Given the description of an element on the screen output the (x, y) to click on. 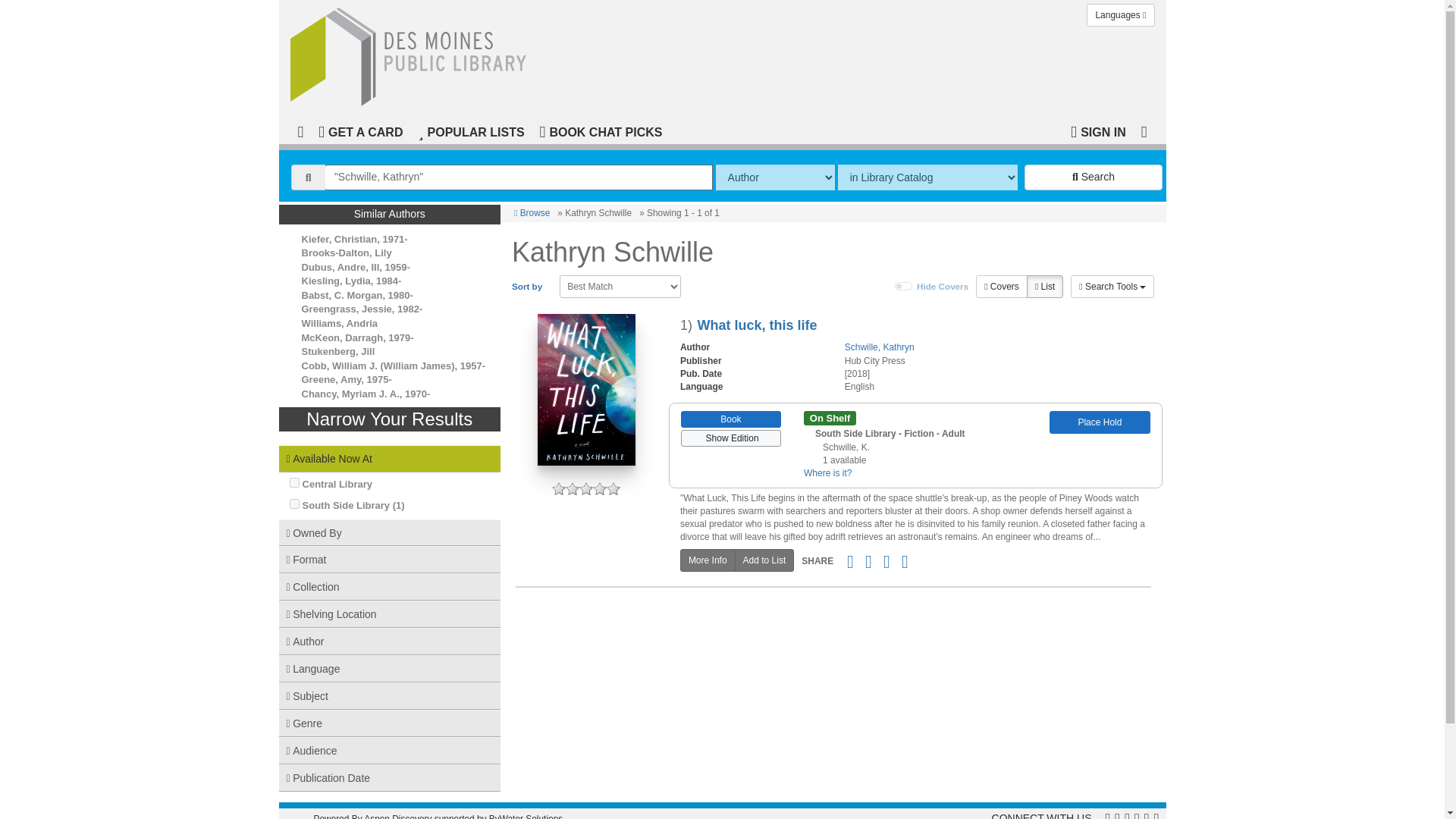
 Search (1093, 177)
on (294, 482)
Kiefer, Christian, 1971- (354, 238)
GET A CARD (360, 130)
Chancy, Myriam J. A., 1970- (365, 393)
Greengrass, Jessie, 1982- (362, 308)
Login (1098, 130)
Languages  (1120, 15)
Greene, Amy, 1975- (346, 378)
